Given the description of an element on the screen output the (x, y) to click on. 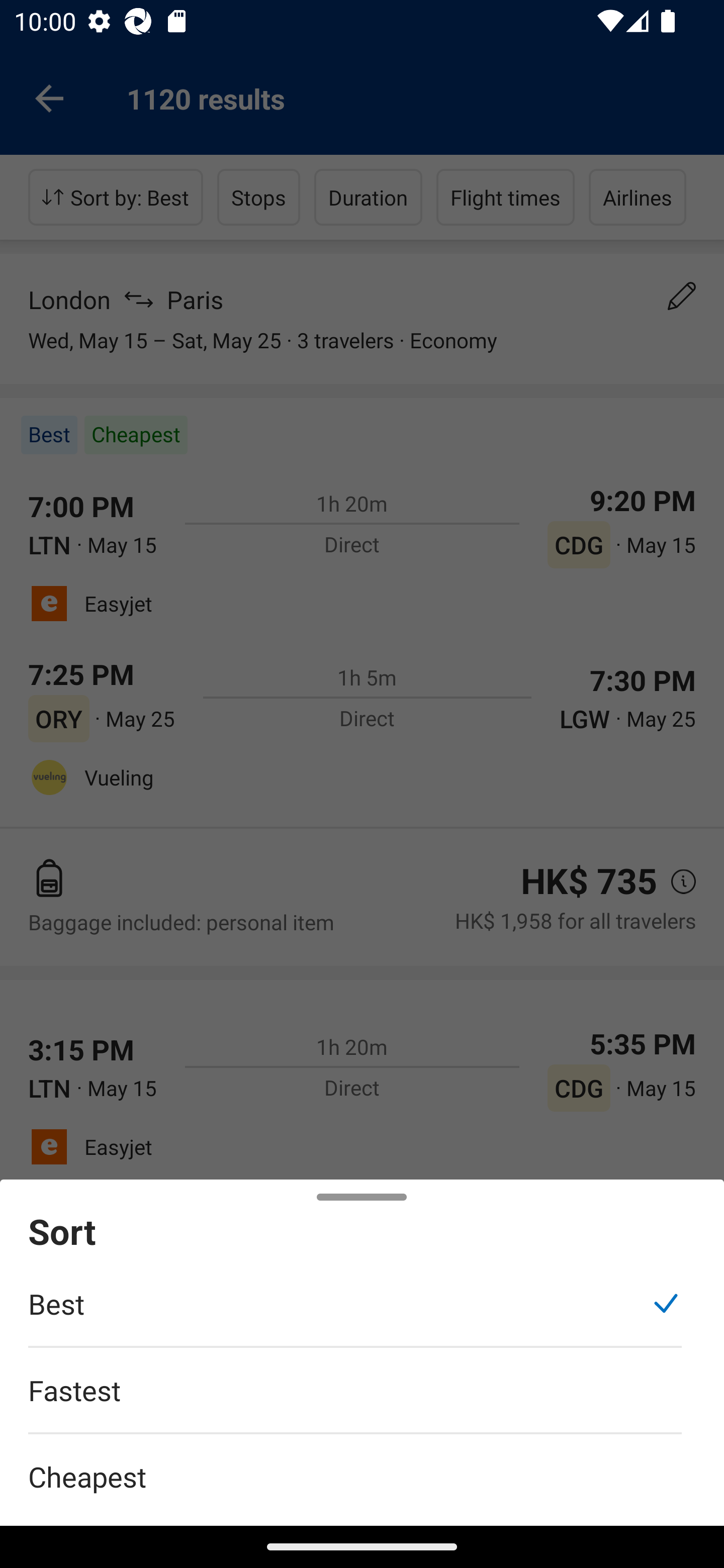
Best (355, 1313)
Fastest (355, 1399)
Cheapest (362, 1465)
